Given the description of an element on the screen output the (x, y) to click on. 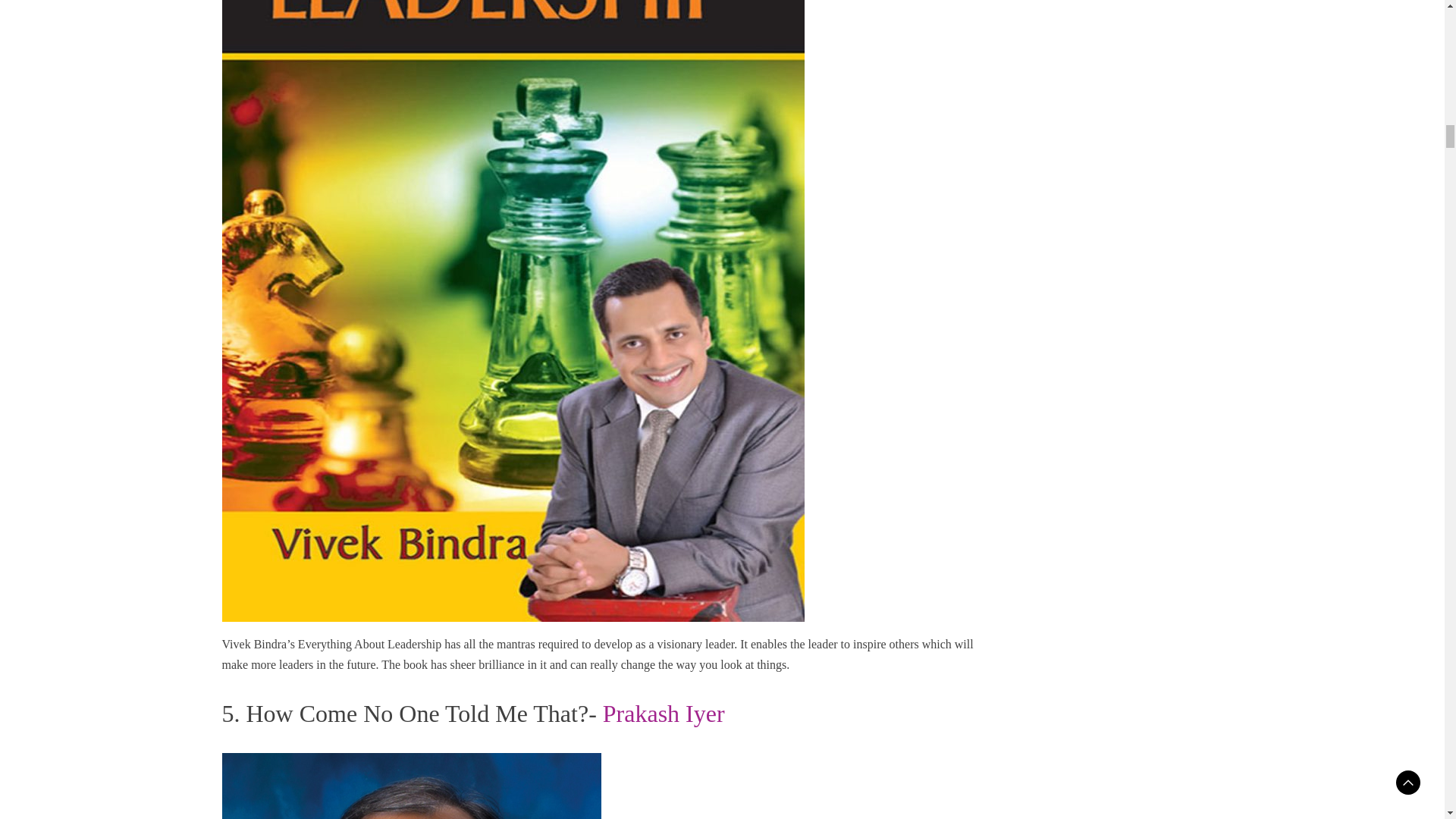
Prakash Iyer (663, 713)
